Given the description of an element on the screen output the (x, y) to click on. 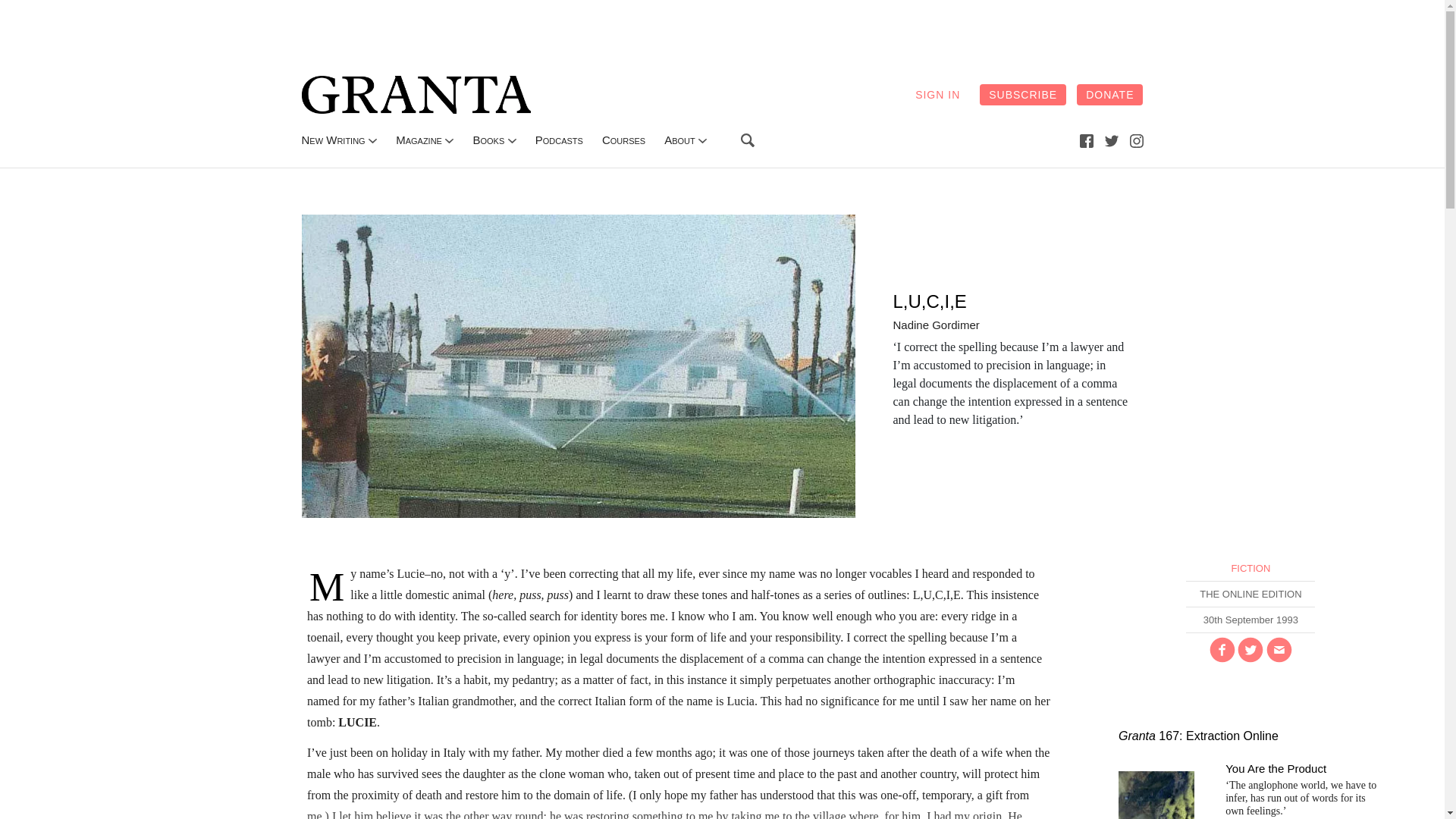
Books (487, 139)
videos (623, 139)
twitter Created with Sketch. (1111, 140)
New Writing (333, 139)
SIGN IN (937, 94)
Magazine (419, 139)
about (679, 139)
magazine (419, 139)
magnifying-glass Created with Sketch. (747, 140)
SUBSCRIBE (1022, 94)
